Given the description of an element on the screen output the (x, y) to click on. 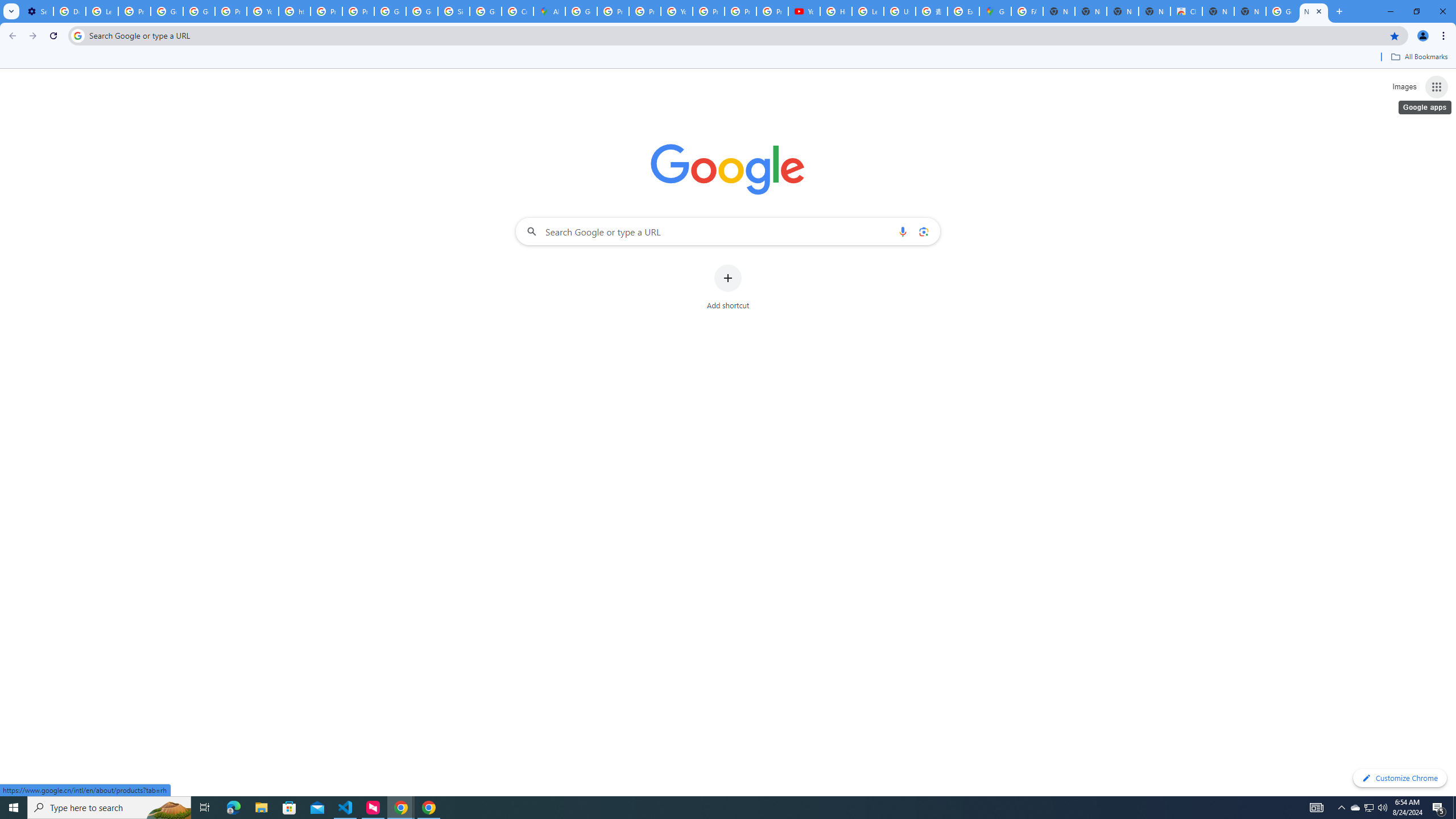
New Tab (1249, 11)
YouTube (676, 11)
